Given the description of an element on the screen output the (x, y) to click on. 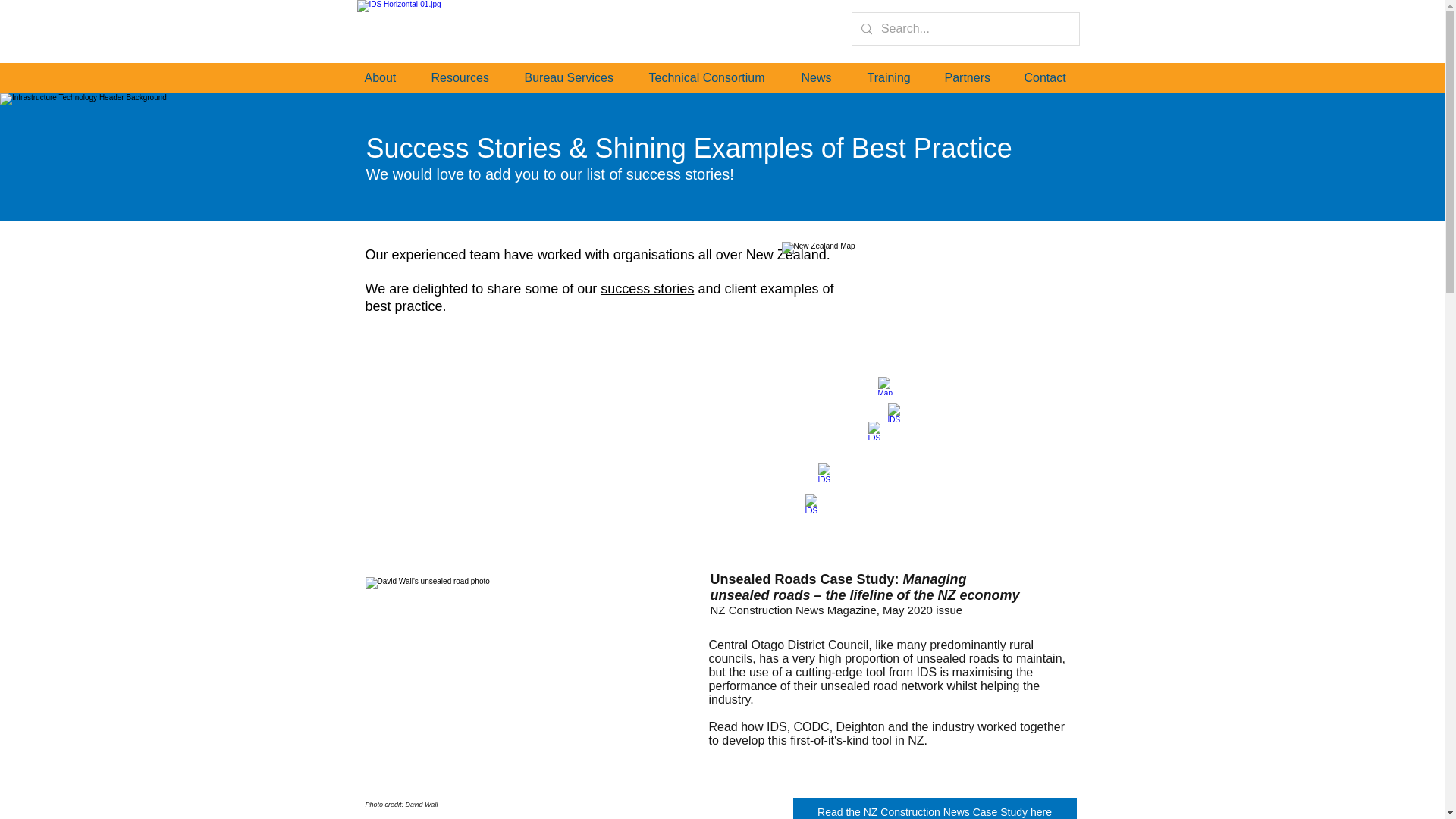
Technical Consortium (717, 77)
Partners (976, 77)
Contact (1054, 77)
best practice (403, 305)
success stories (646, 288)
Training (898, 77)
Bureau Services (579, 77)
Resources (469, 77)
Read the NZ Construction News Case Study here (935, 808)
